Given the description of an element on the screen output the (x, y) to click on. 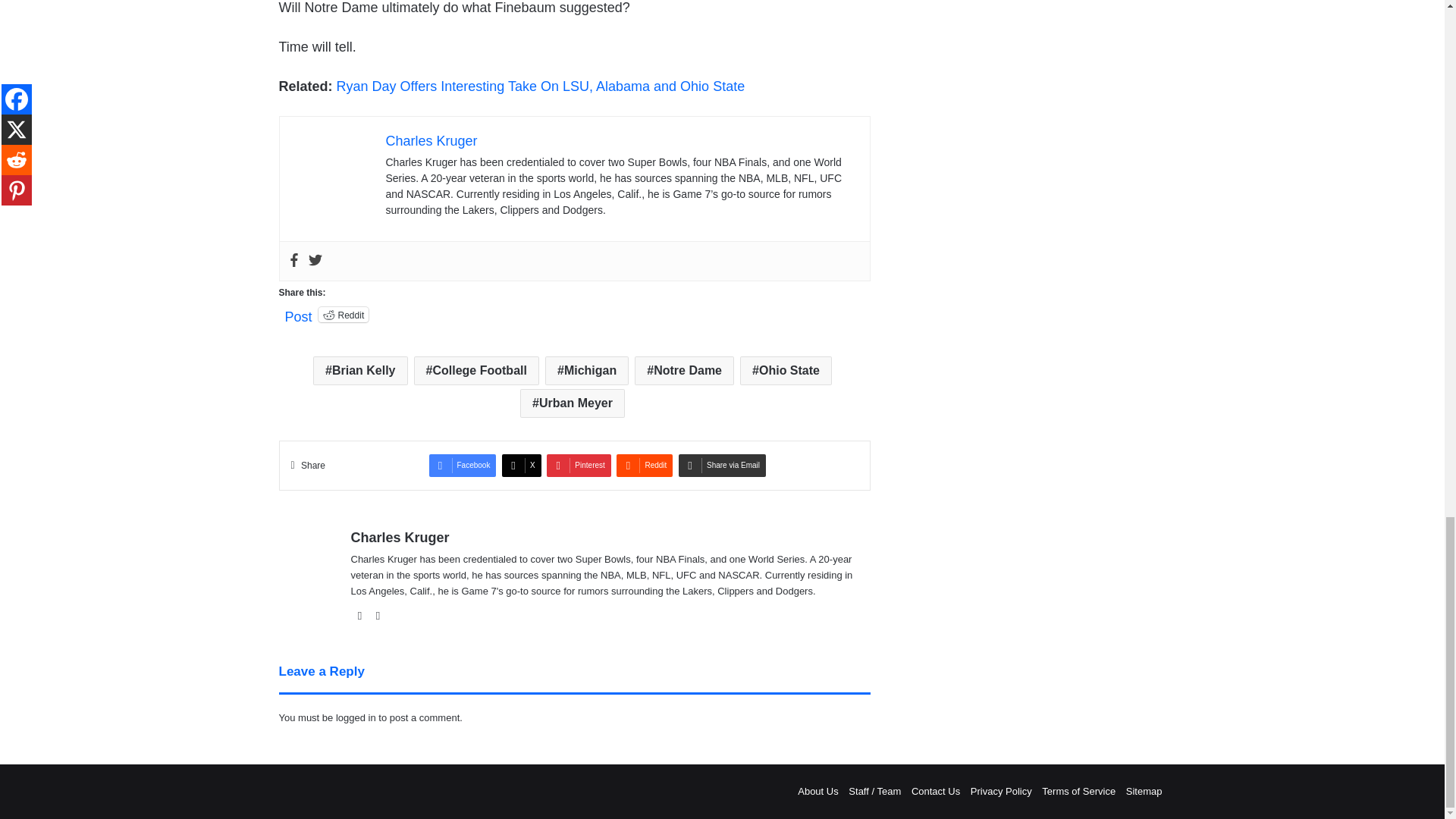
Post (299, 314)
Charles Kruger (431, 140)
Reddit (343, 314)
